Given the description of an element on the screen output the (x, y) to click on. 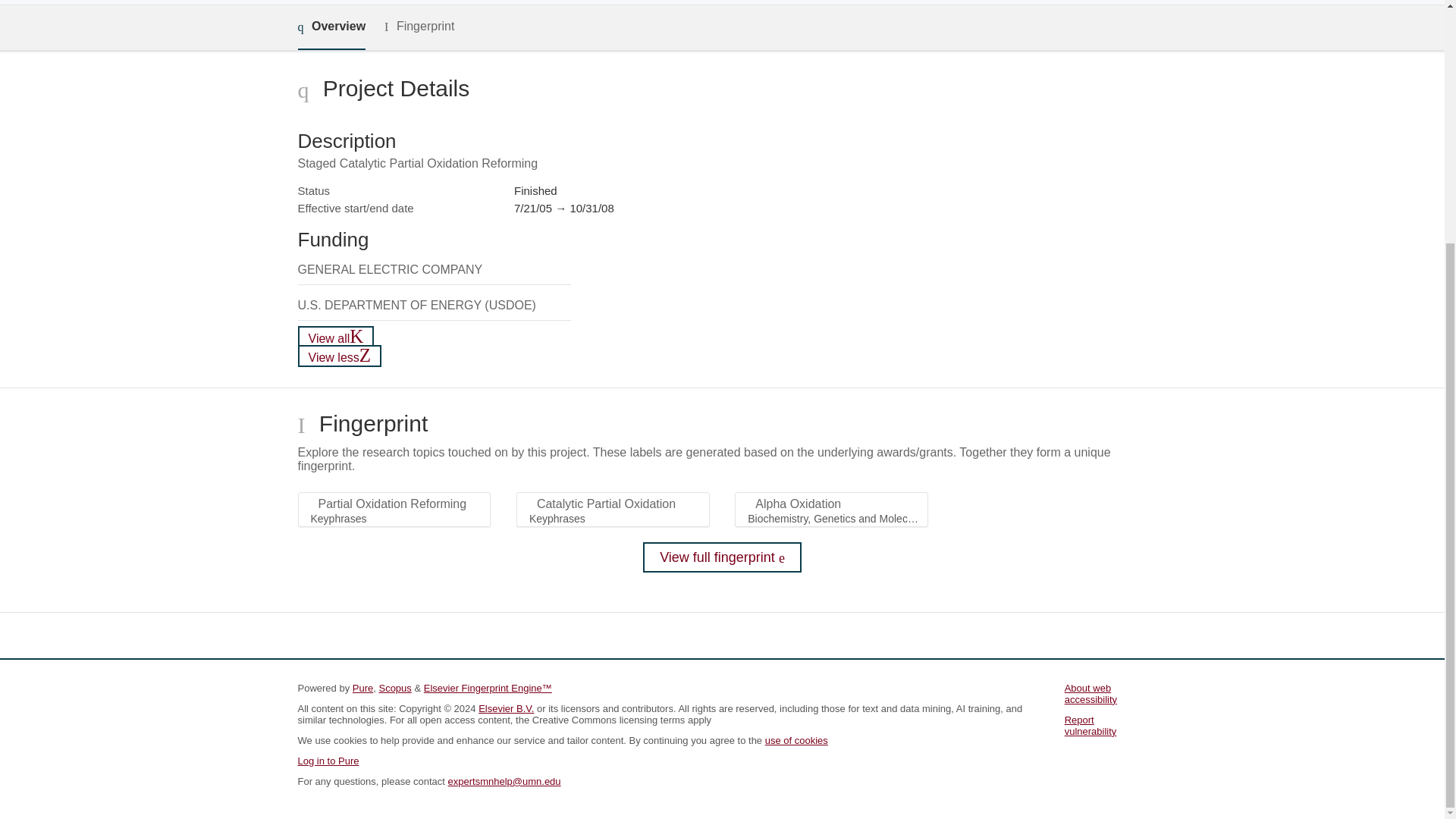
Log in to Pure (327, 760)
use of cookies (796, 740)
Pure (362, 687)
View less (339, 355)
Elsevier B.V. (506, 708)
Overview (331, 26)
View all (335, 336)
Scopus (394, 687)
View full fingerprint (722, 557)
Fingerprint (419, 26)
Report vulnerability (1090, 725)
About web accessibility (1090, 693)
